Given the description of an element on the screen output the (x, y) to click on. 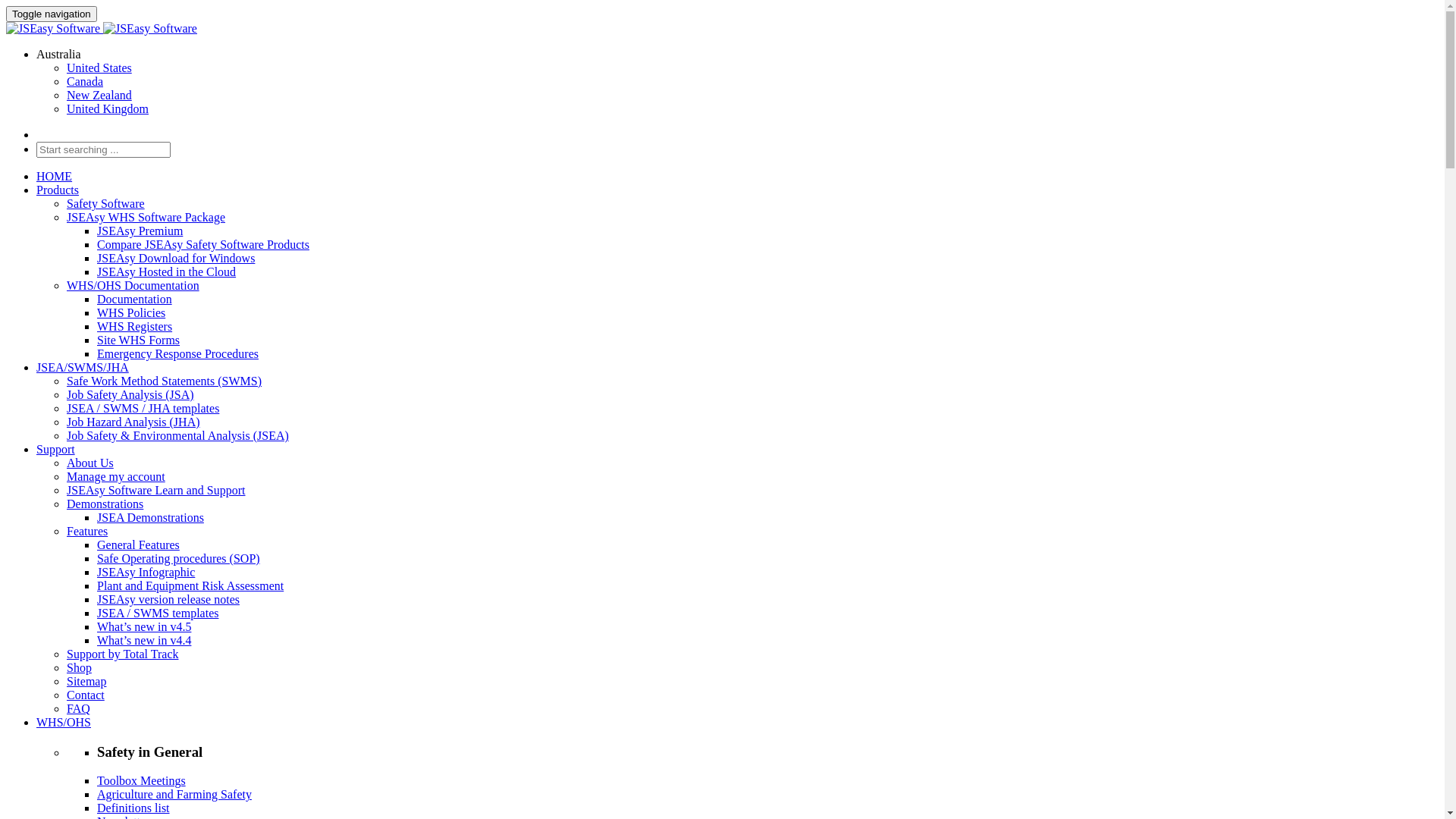
JSEA / SWMS templates Element type: text (157, 612)
Support Element type: text (55, 448)
Demonstrations Element type: text (104, 503)
JSEAsy WHS Software Package Element type: text (145, 216)
Agriculture and Farming Safety Element type: text (174, 793)
Canada Element type: text (84, 81)
JSEAsy Premium Element type: text (139, 230)
Safe Work Method Statements (SWMS) Element type: text (163, 380)
FAQ Element type: text (78, 708)
JSEA Demonstrations Element type: text (150, 517)
JSEasy Software Element type: hover (53, 28)
Definitions list Element type: text (133, 807)
JSEA/SWMS/JHA Element type: text (82, 366)
Documentation Element type: text (134, 298)
Manage my account Element type: text (115, 476)
Sitemap Element type: text (86, 680)
JSEAsy Download for Windows Element type: text (175, 257)
Toolbox Meetings Element type: text (141, 780)
JSEasy Software Element type: hover (150, 28)
Contact Element type: text (85, 694)
Safety Software Element type: text (105, 203)
Safe Operating procedures (SOP) Element type: text (178, 558)
Emergency Response Procedures Element type: text (177, 353)
Features Element type: text (86, 530)
JSEAsy version release notes Element type: text (168, 599)
Support by Total Track Element type: text (122, 653)
WHS/OHS Element type: text (63, 721)
United States Element type: text (98, 67)
Compare JSEAsy Safety Software Products Element type: text (203, 244)
WHS Registers Element type: text (134, 326)
United Kingdom Element type: text (107, 108)
JSEAsy Infographic Element type: text (145, 571)
JSEAsy Software Learn and Support Element type: text (155, 489)
JSEA / SWMS / JHA templates Element type: text (142, 407)
Australia Element type: text (58, 53)
Plant and Equipment Risk Assessment Element type: text (190, 585)
General Features Element type: text (138, 544)
Job Safety & Environmental Analysis (JSEA) Element type: text (177, 435)
JSEAsy Hosted in the Cloud Element type: text (166, 271)
WHS/OHS Documentation Element type: text (132, 285)
Toggle navigation Element type: text (51, 13)
Job Safety Analysis (JSA) Element type: text (130, 394)
Shop Element type: text (78, 667)
Site WHS Forms Element type: text (138, 339)
WHS Policies Element type: text (131, 312)
About Us Element type: text (89, 462)
Products Element type: text (57, 189)
New Zealand Element type: text (98, 94)
Job Hazard Analysis (JHA) Element type: text (133, 421)
HOME Element type: text (54, 175)
